Given the description of an element on the screen output the (x, y) to click on. 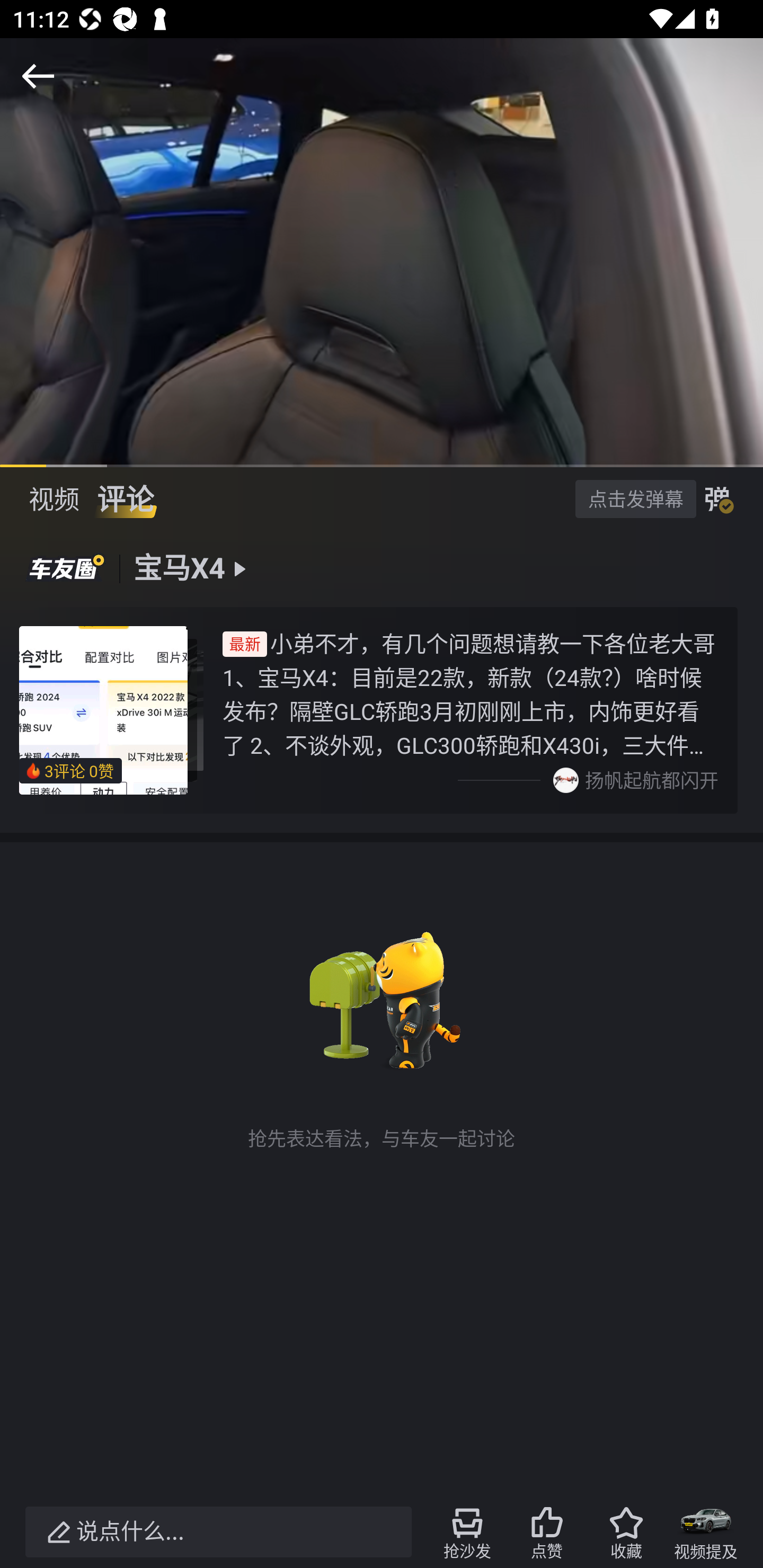
6.0 (381, 252)
 (38, 75)
视频 (53, 499)
评论 (125, 499)
点击发弹幕 (635, 498)
抢先表达看法，与车友一起讨论 (381, 1033)
 抢沙发 (467, 1531)
点赞 (546, 1531)
收藏 (625, 1531)
视频提及 (705, 1531)
 说点什么... (218, 1531)
